Given the description of an element on the screen output the (x, y) to click on. 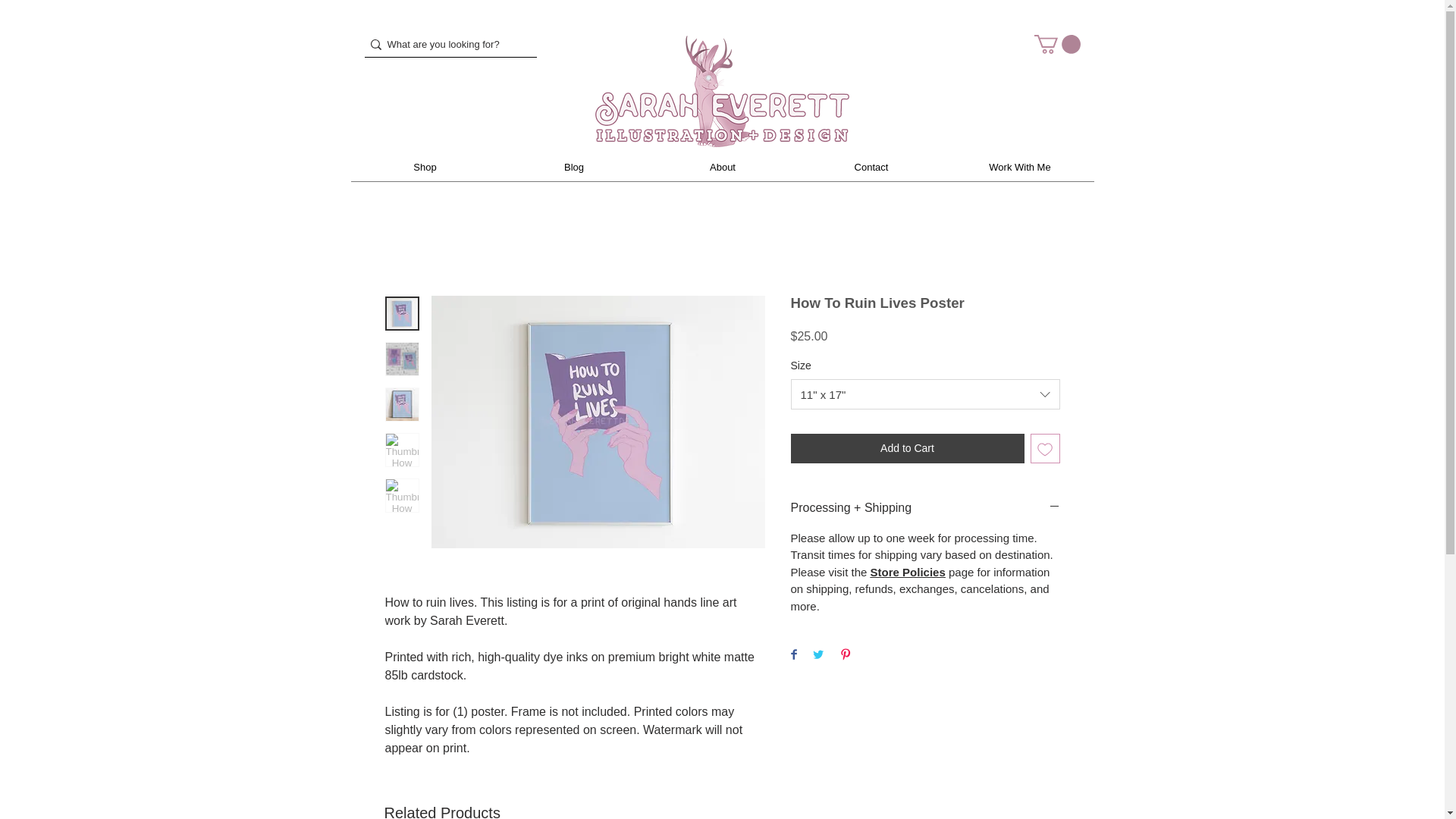
Blog (573, 167)
Shop (424, 167)
Store Policies (907, 571)
Work With Me (1018, 167)
Add to Cart (906, 448)
About (721, 167)
11" x 17" (924, 394)
Contact (870, 167)
